Given the description of an element on the screen output the (x, y) to click on. 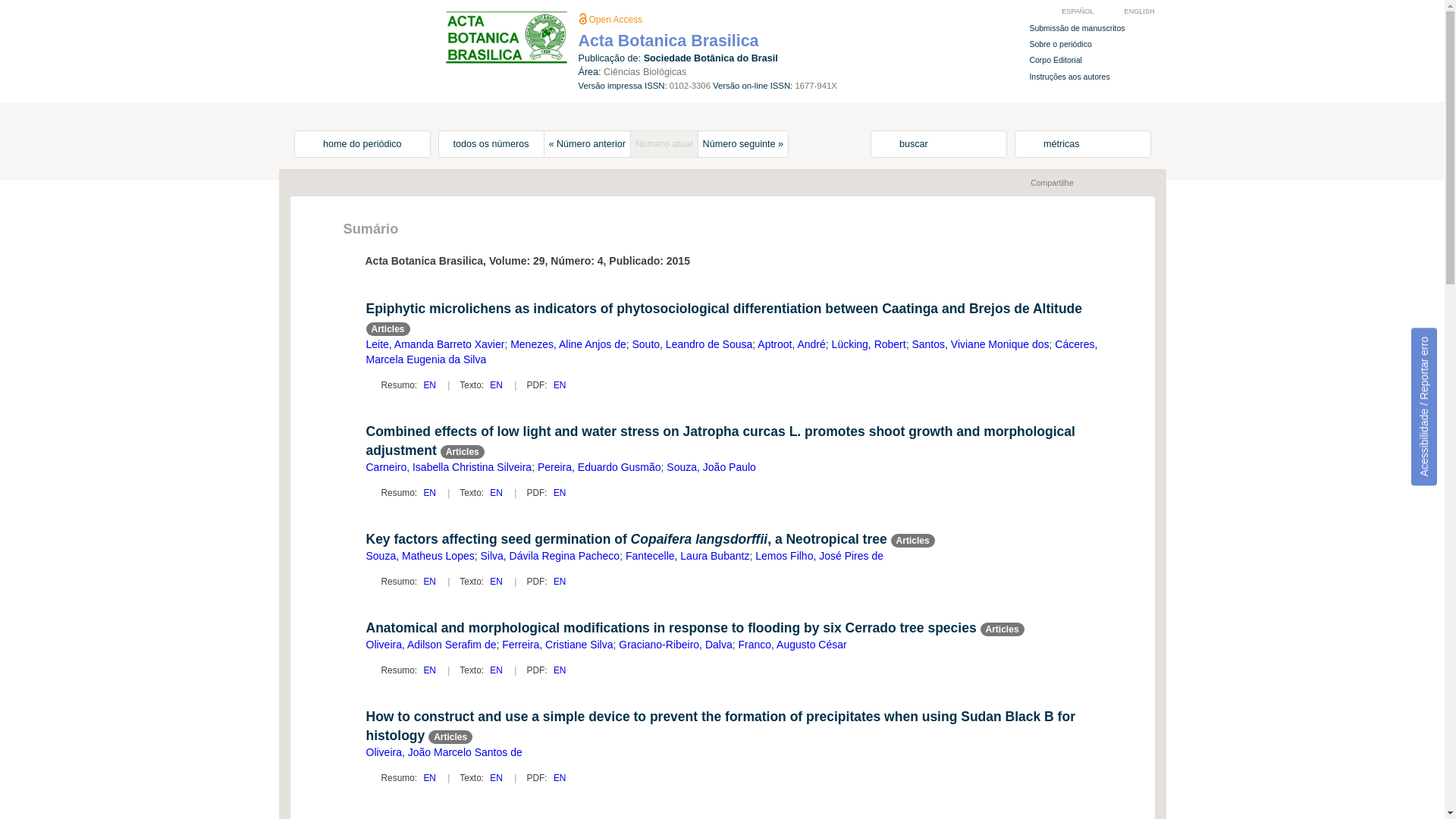
Corpo Editorial (1045, 59)
Compartilhar no Facebook (1100, 182)
buscar (938, 144)
Atom (1010, 182)
ENGLISH (1131, 11)
Abrir menu (312, 18)
Abrir menu (312, 18)
Outras redes sociais (1134, 182)
Corpo Editorial (1045, 59)
Compartilhar no Twitter (1117, 182)
